Given the description of an element on the screen output the (x, y) to click on. 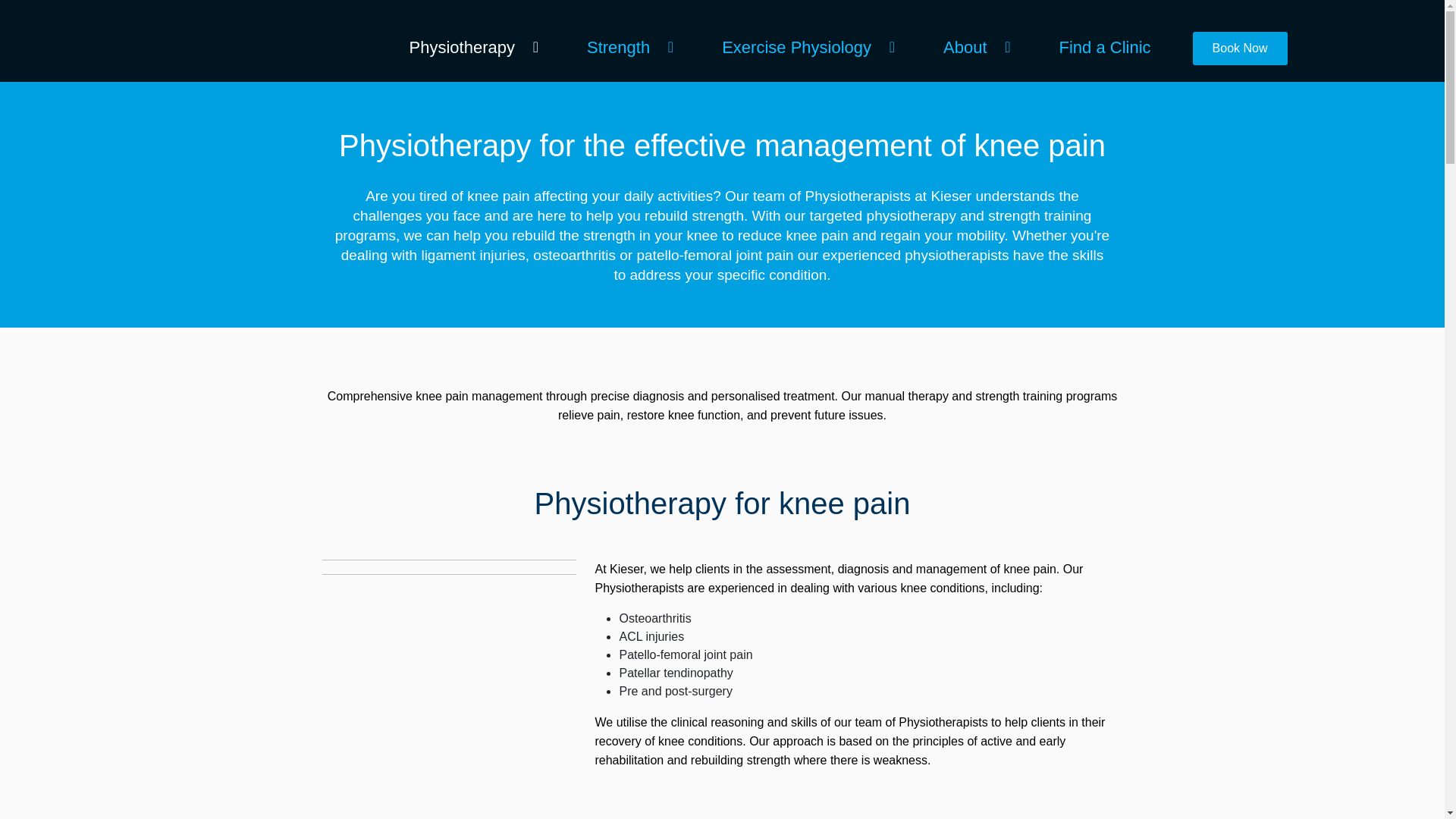
Strength (623, 47)
Physiotherapy (467, 47)
Find a Clinic (1110, 47)
Exercise Physiology (801, 47)
Book Now (1239, 48)
Find a Clinic (1110, 47)
Book Now (1239, 48)
About (970, 47)
